Given the description of an element on the screen output the (x, y) to click on. 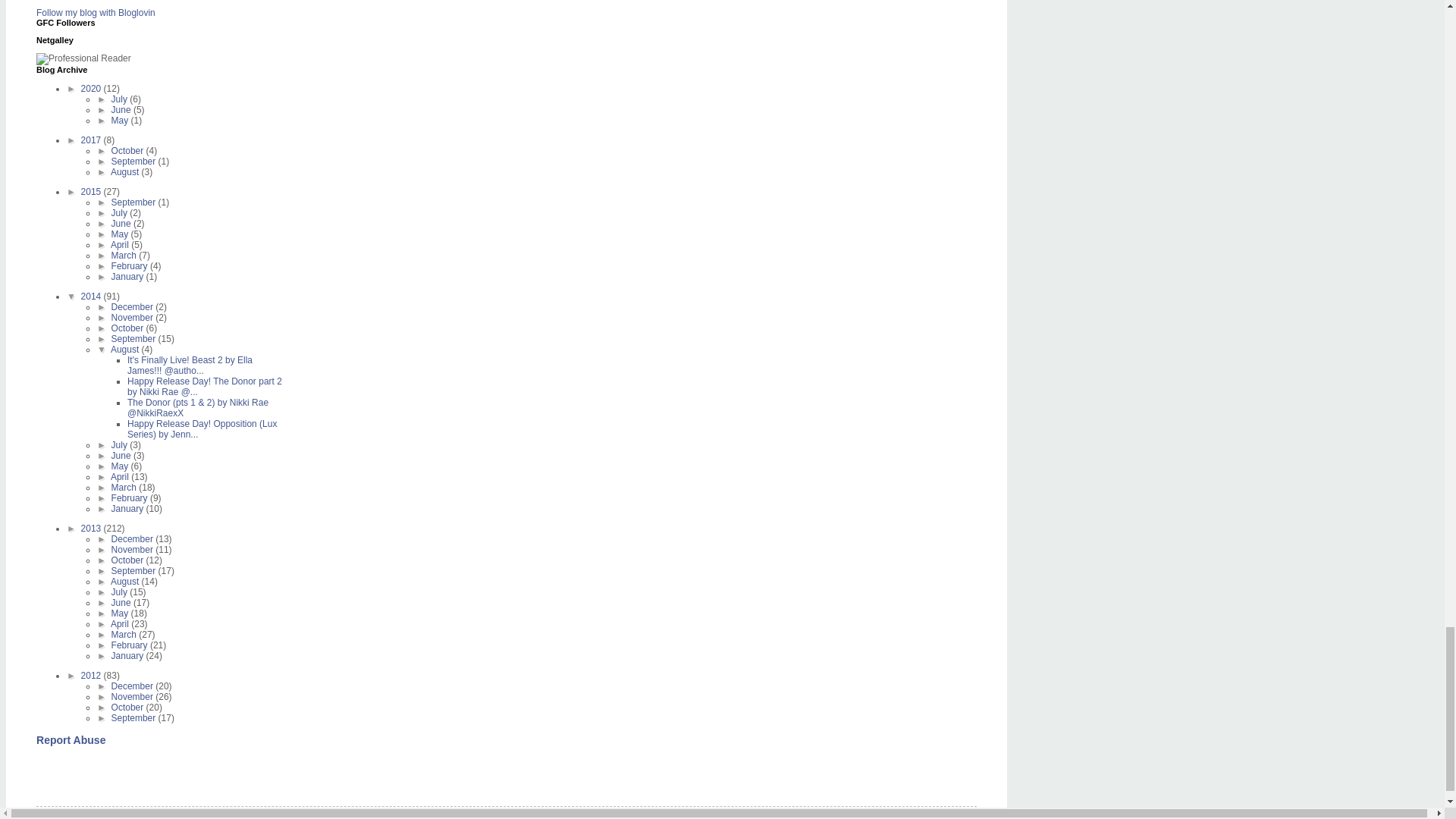
Professional Reader (83, 59)
